Given the description of an element on the screen output the (x, y) to click on. 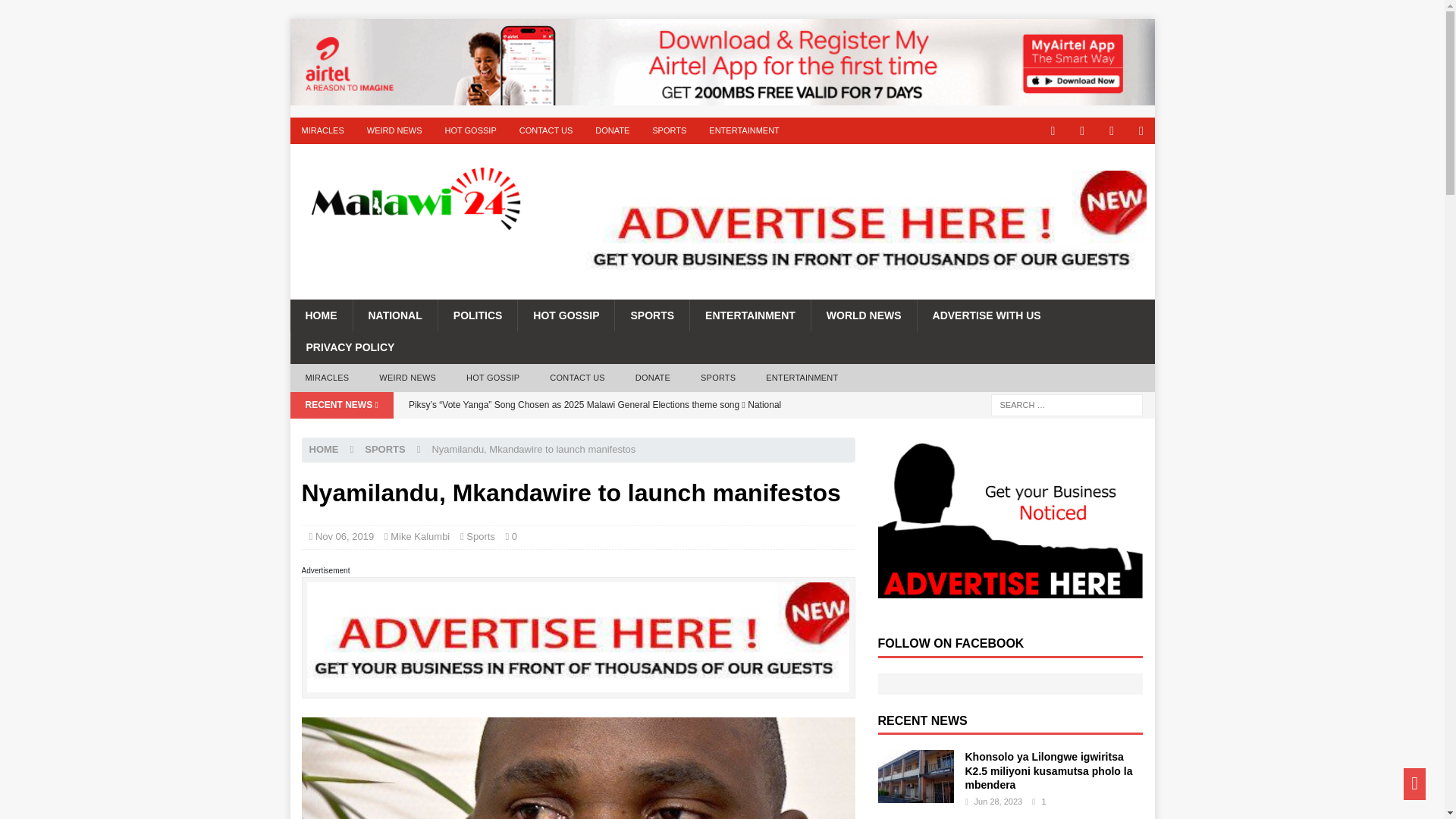
POLITICS (478, 315)
HOT GOSSIP (565, 315)
Hot Gossip (565, 315)
CONTACT US (577, 378)
NATIONAL (394, 315)
PRIVACY POLICY (349, 347)
DONATE (611, 130)
Advertise With Us (987, 315)
ADVERTISE WITH US (987, 315)
WEIRD NEWS (394, 130)
Entertainment (749, 315)
HOT GOSSIP (469, 130)
ENTERTAINMENT (749, 315)
WORLD NEWS (863, 315)
HOME (320, 315)
